Given the description of an element on the screen output the (x, y) to click on. 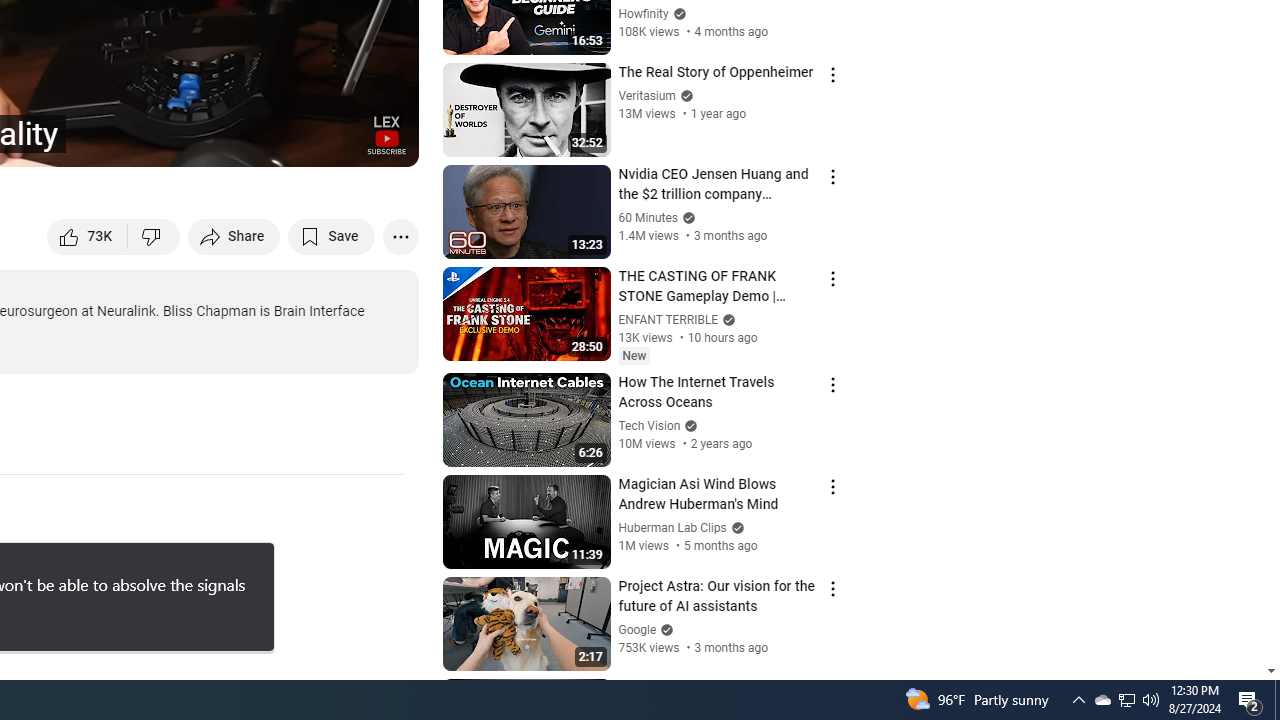
like this video along with 73,133 other people (88, 236)
Save to playlist (331, 236)
Channel watermark (386, 134)
Full screen (f) (382, 142)
